Given the description of an element on the screen output the (x, y) to click on. 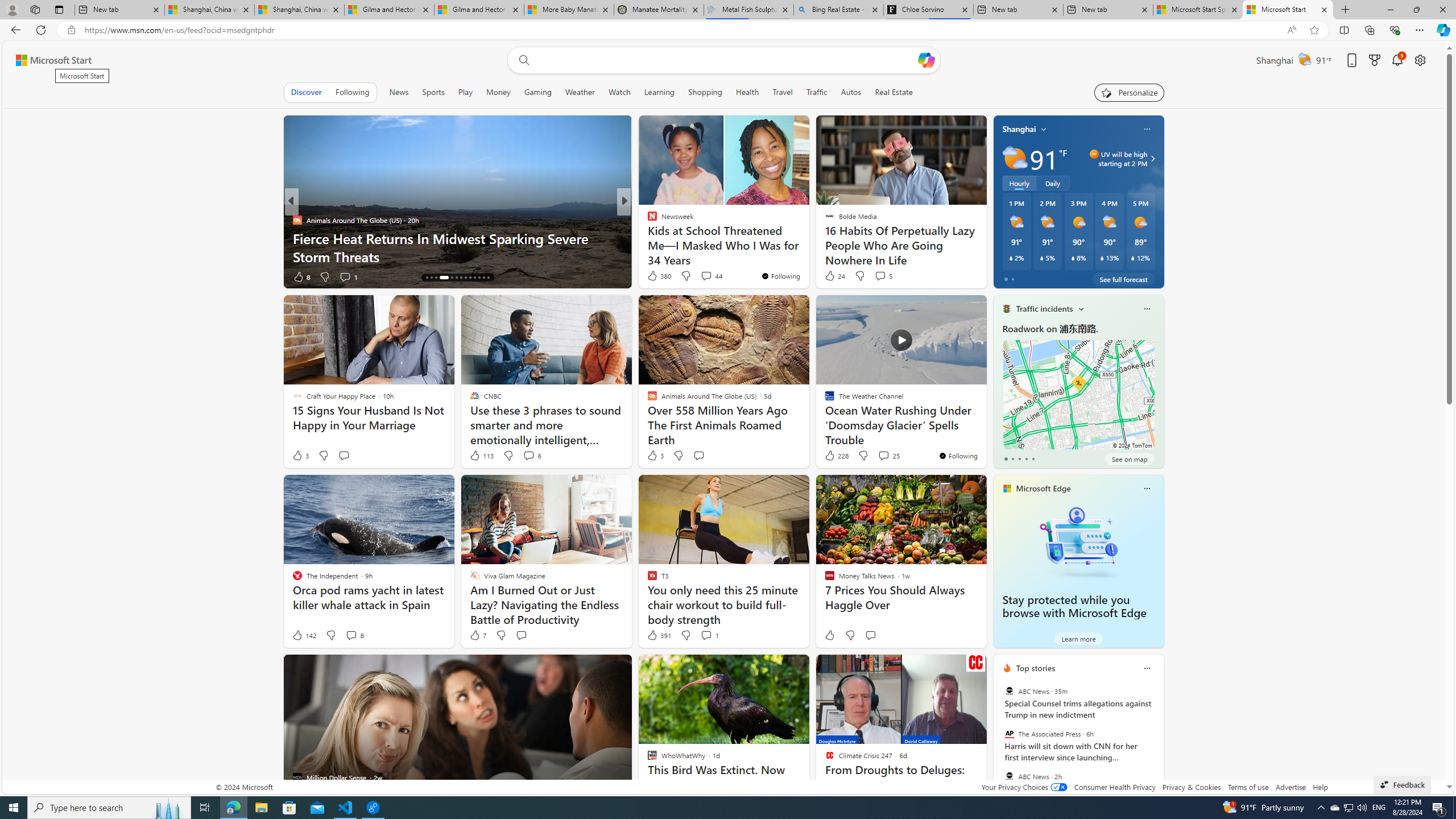
View comments 25 Comment (883, 455)
TODAY (647, 219)
Stay protected while you browse with Microsoft Edge (1077, 541)
8 Like (301, 276)
My location (1043, 128)
380 Like (658, 275)
